Given the description of an element on the screen output the (x, y) to click on. 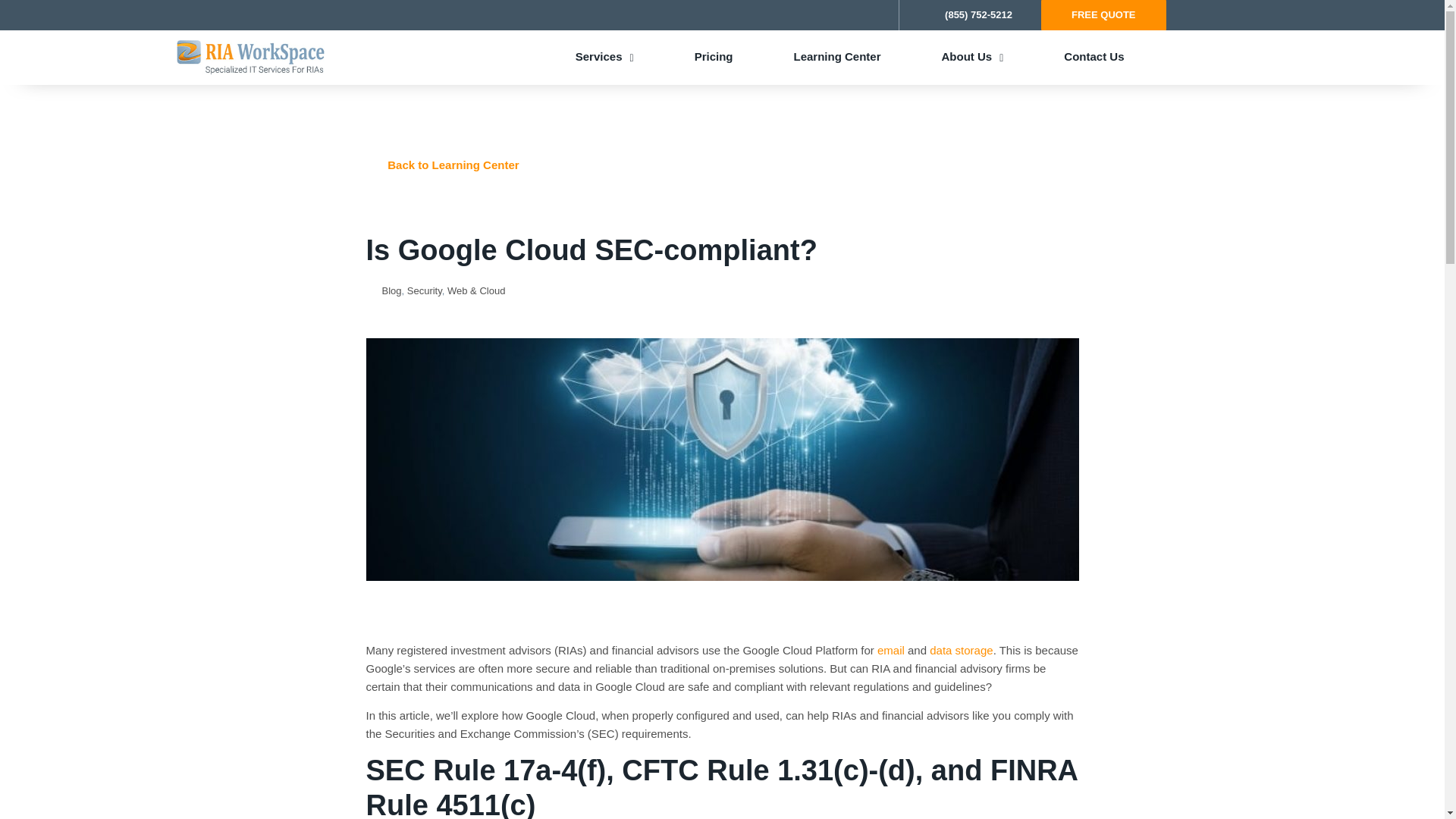
About Us (972, 56)
data storage (961, 649)
Back to Learning Center (721, 163)
Learning Center (836, 56)
Contact Us (1093, 56)
email (890, 649)
FREE QUOTE (1103, 15)
Pricing (712, 56)
Services (603, 56)
